Given the description of an element on the screen output the (x, y) to click on. 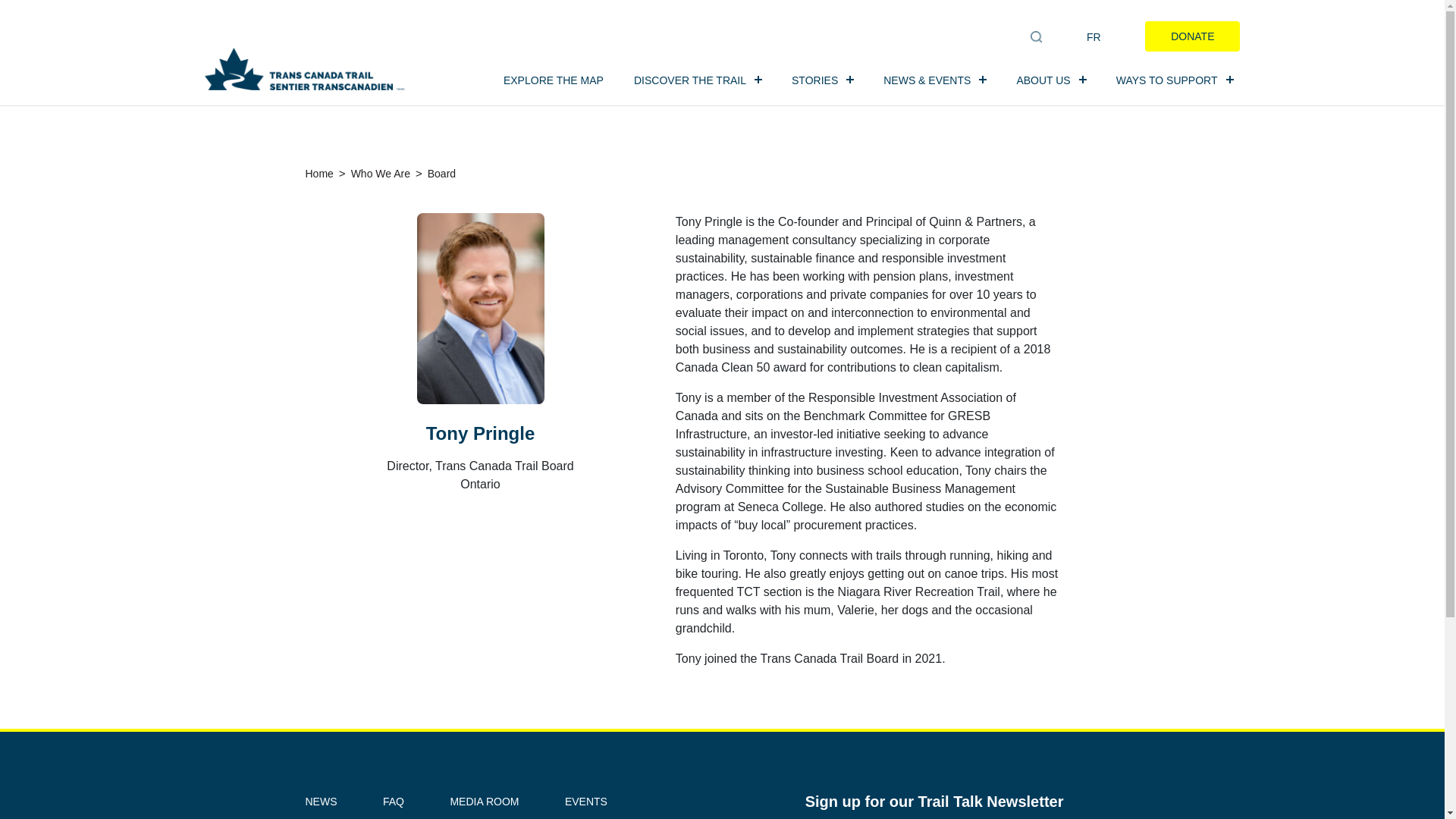
Go to the Board People Category archives. (441, 173)
STORIES (826, 81)
SEARCH (1036, 37)
DONATE (1192, 36)
DISCOVER THE TRAIL (700, 81)
Go to the Who We Are People Category archives. (380, 173)
FR (1093, 36)
WAYS TO SUPPORT (1178, 81)
ABOUT US (1054, 81)
Go to Home. (318, 173)
EXPLORE THE MAP (553, 81)
